Given the description of an element on the screen output the (x, y) to click on. 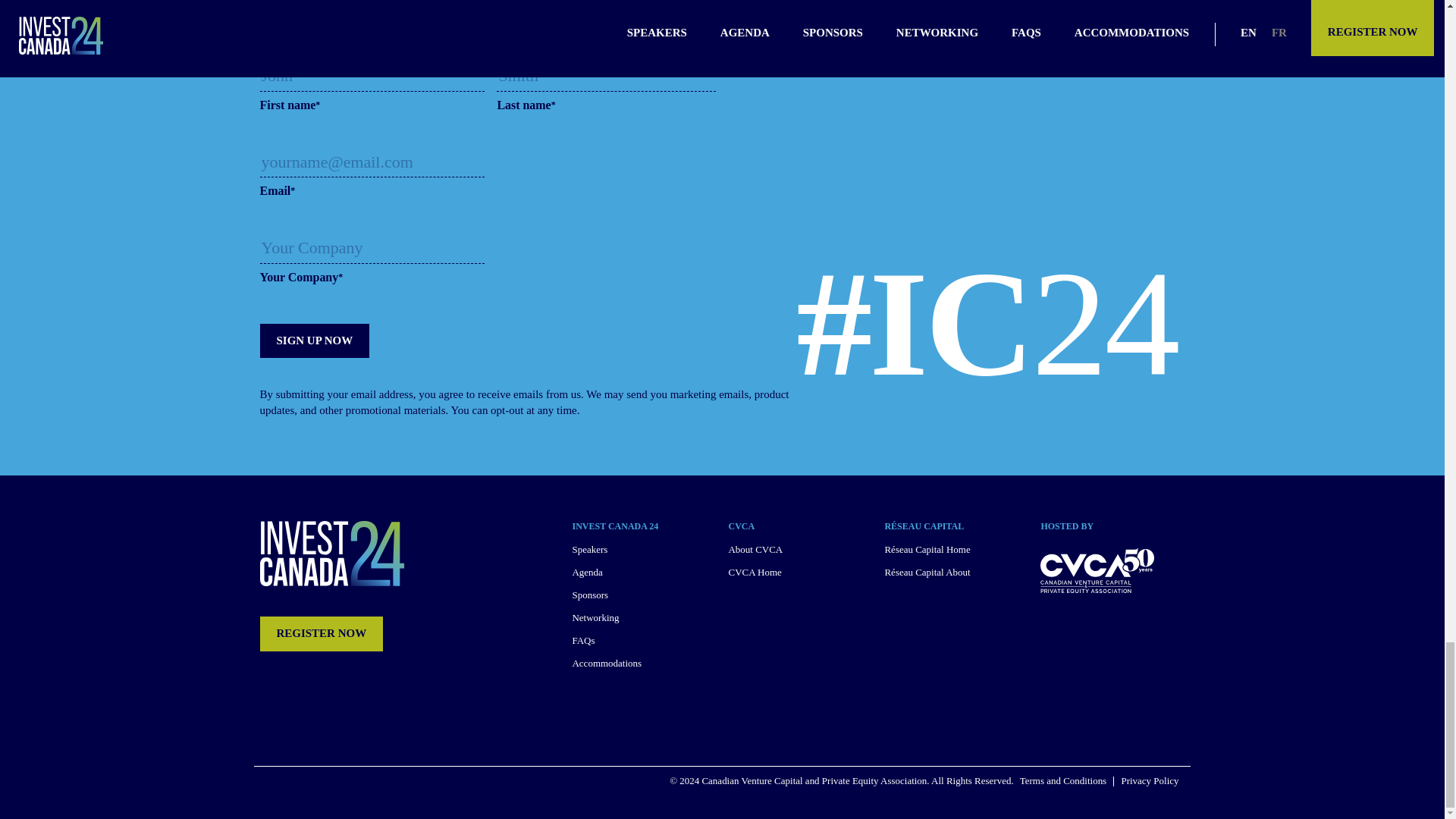
Sponsors (590, 594)
Speakers (589, 549)
CVCA Home (754, 572)
Sign Up Now (314, 340)
Privacy Policy (1149, 780)
Invest Canada '24 (331, 553)
About CVCA (755, 549)
FAQs (583, 640)
Sign Up Now (314, 340)
REGISTER NOW (320, 633)
